Given the description of an element on the screen output the (x, y) to click on. 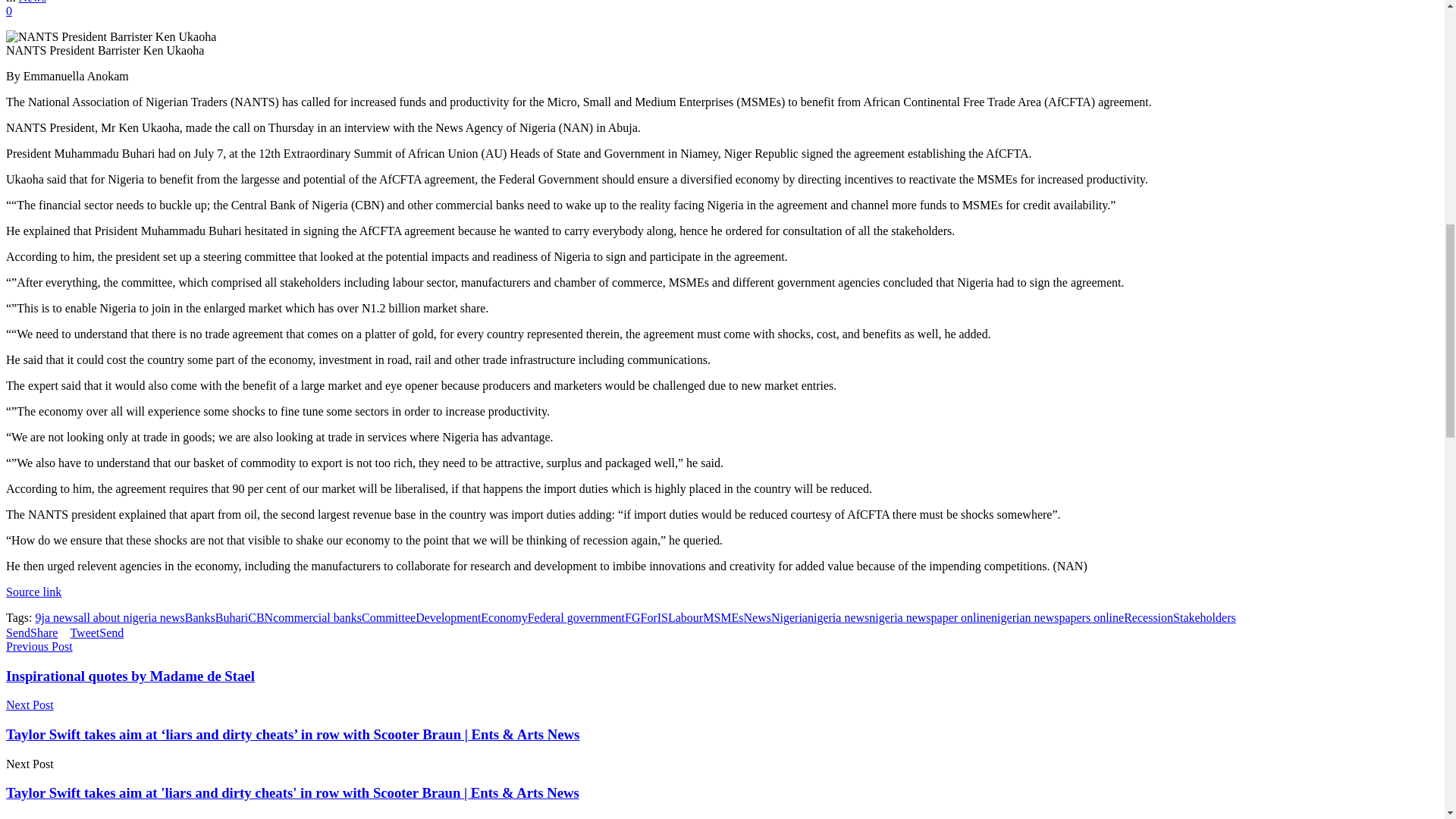
all about nigeria news (131, 617)
9ja news (55, 617)
Source link (33, 591)
News (31, 2)
